Given the description of an element on the screen output the (x, y) to click on. 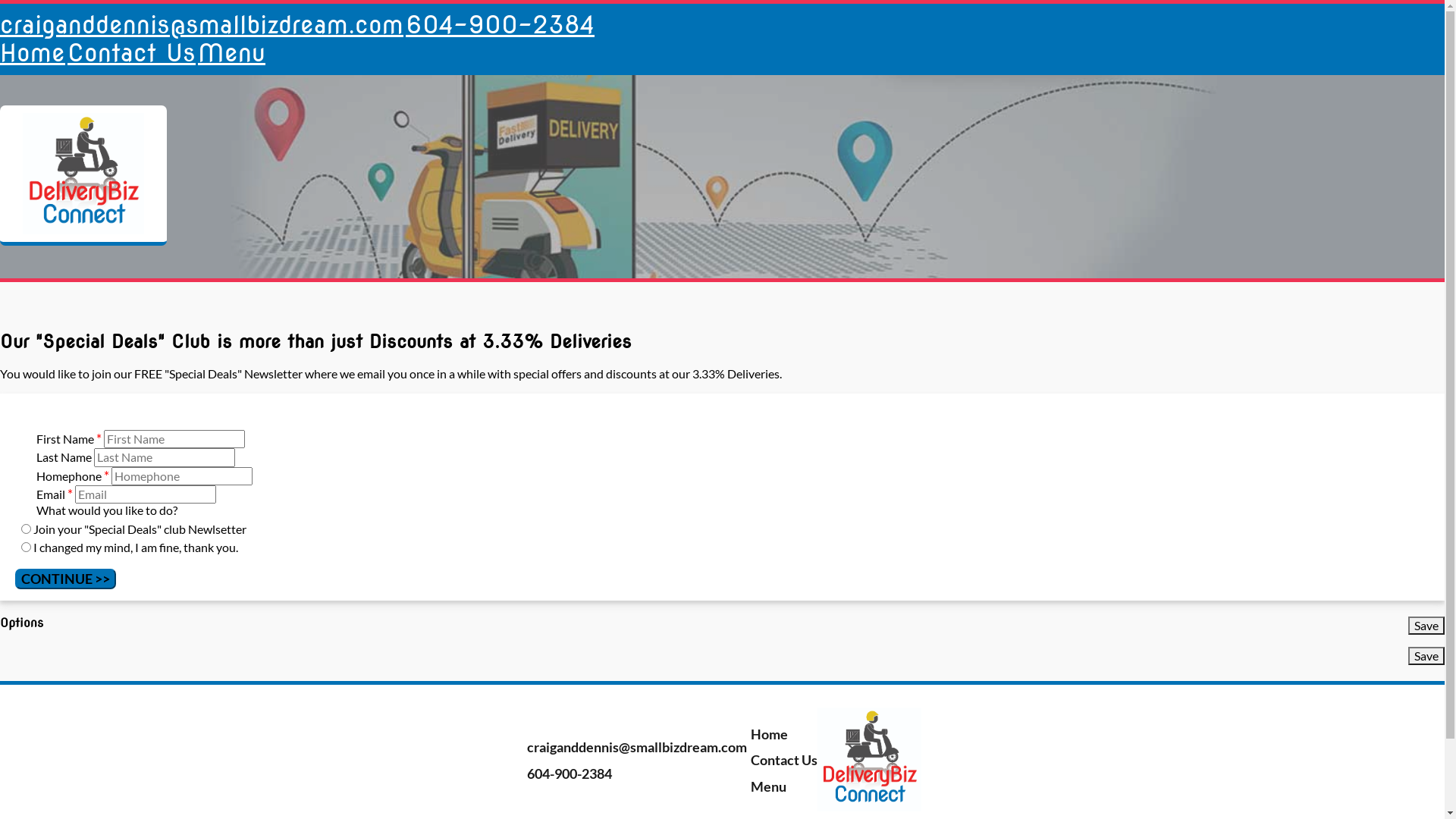
604-900-2384 Element type: text (567, 773)
Menu Element type: text (766, 786)
Home Element type: text (766, 733)
This field cannot be blank. Element type: hover (173, 438)
Save Element type: text (1426, 655)
craiganddennis@smallbizdream.com Element type: text (634, 746)
This field cannot be blank. Element type: hover (145, 494)
Home Element type: text (32, 52)
Contact Us Element type: text (131, 52)
Menu Element type: text (231, 52)
This field cannot be blank. Element type: hover (181, 476)
CONTINUE >> Element type: text (65, 578)
Contact Us Element type: text (781, 759)
Save Element type: text (1426, 625)
craiganddennis@smallbizdream.com Element type: text (201, 24)
604-900-2384 Element type: text (499, 24)
